Given the description of an element on the screen output the (x, y) to click on. 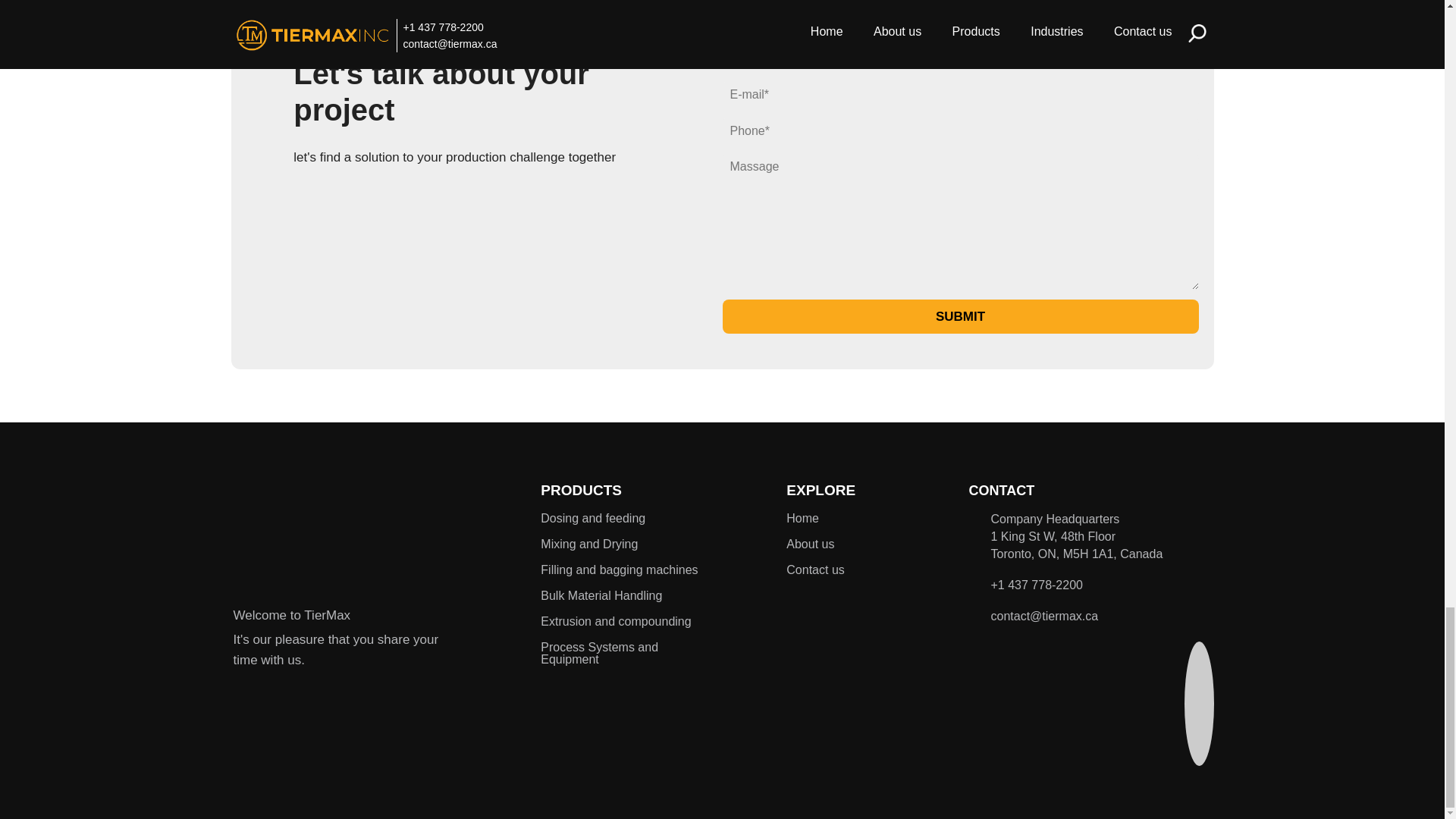
SUBMIT (960, 316)
